Given the description of an element on the screen output the (x, y) to click on. 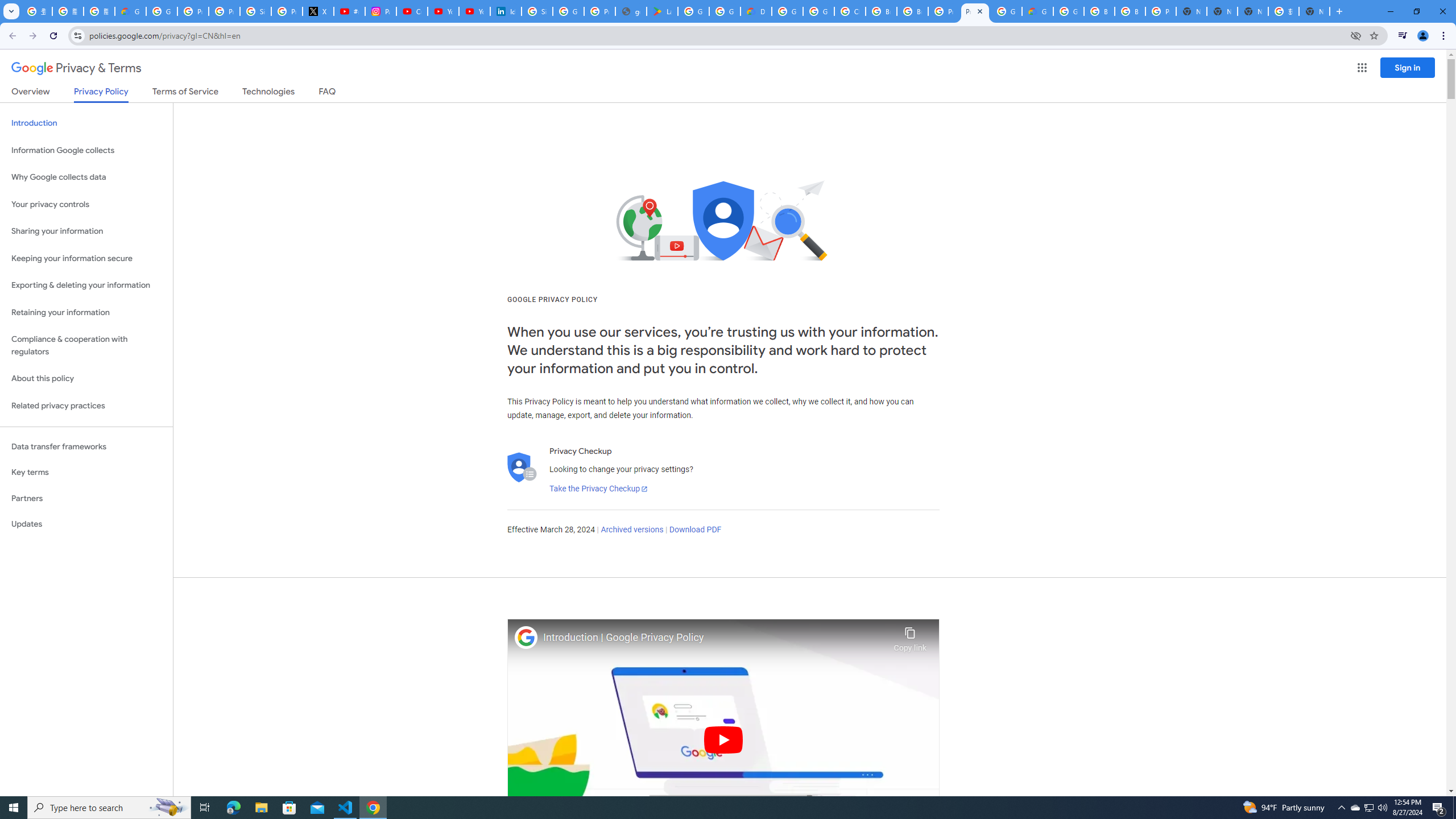
Key terms (86, 472)
Google Cloud Estimate Summary (1037, 11)
Google Workspace - Specific Terms (724, 11)
Google Cloud Platform (1005, 11)
Sharing your information (86, 230)
Why Google collects data (86, 176)
Sign in - Google Accounts (536, 11)
Related privacy practices (86, 405)
Download PDF (695, 529)
Privacy & Terms (76, 68)
